Given the description of an element on the screen output the (x, y) to click on. 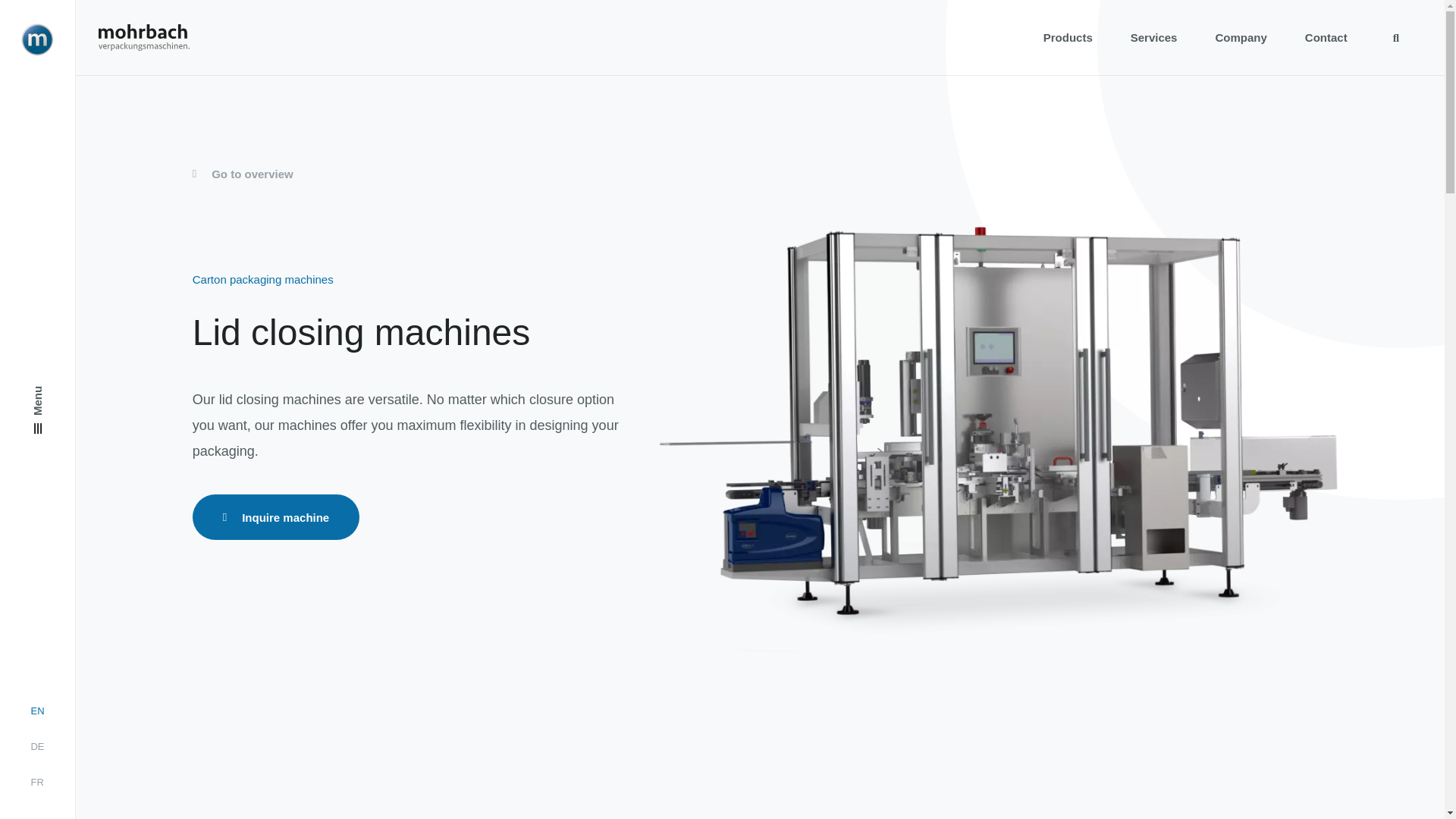
FR (36, 782)
EN (36, 710)
DE (36, 746)
